Given the description of an element on the screen output the (x, y) to click on. 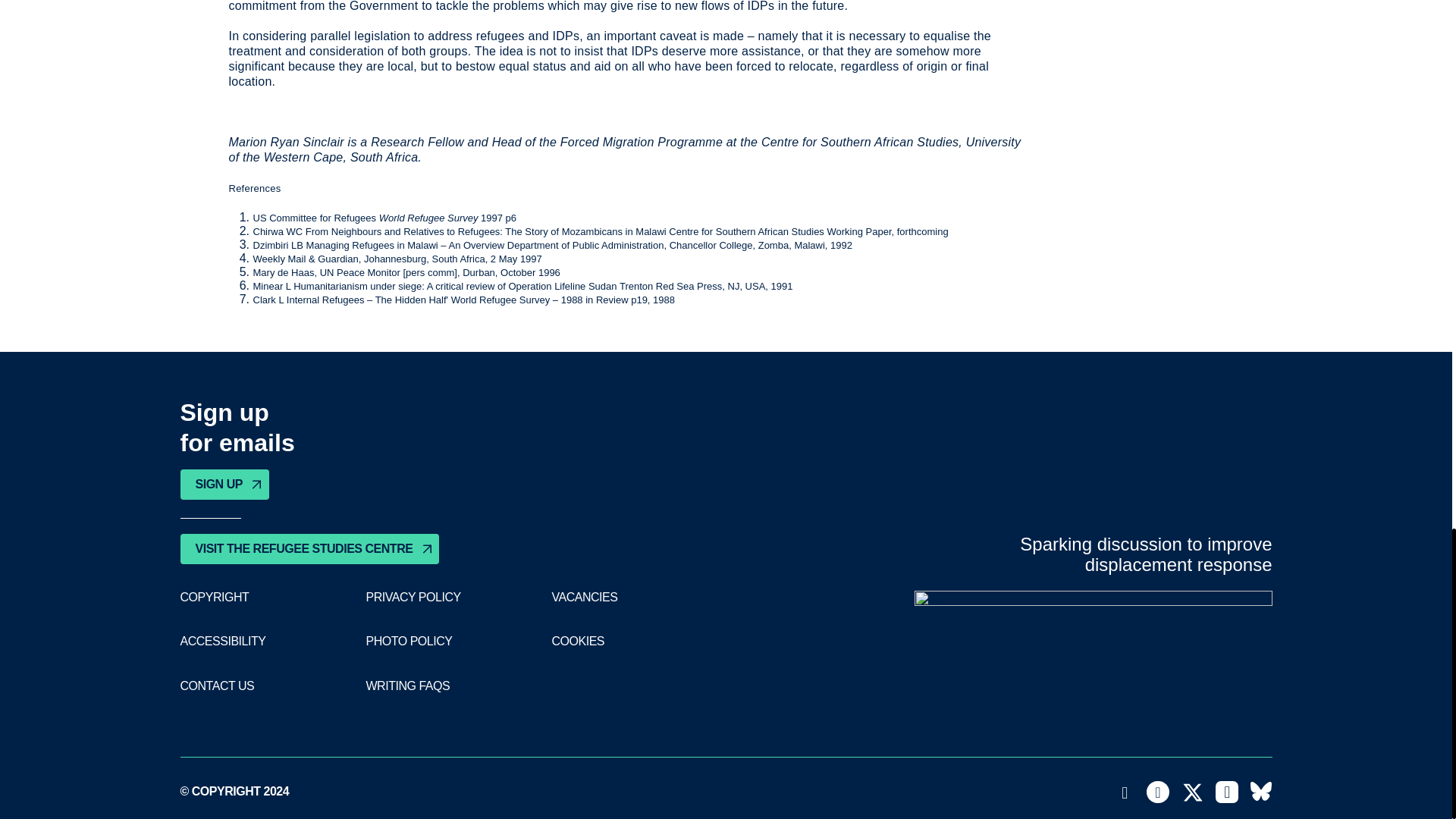
VISIT THE REFUGEE STUDIES CENTRE (309, 548)
Email (1124, 791)
VK (1260, 792)
COPYRIGHT (214, 597)
Facebook (1158, 792)
ACCESSIBILITY (223, 641)
LinkedIn (1227, 792)
CONTACT US (217, 685)
PRIVACY POLICY (412, 597)
SIGN UP (224, 484)
